Given the description of an element on the screen output the (x, y) to click on. 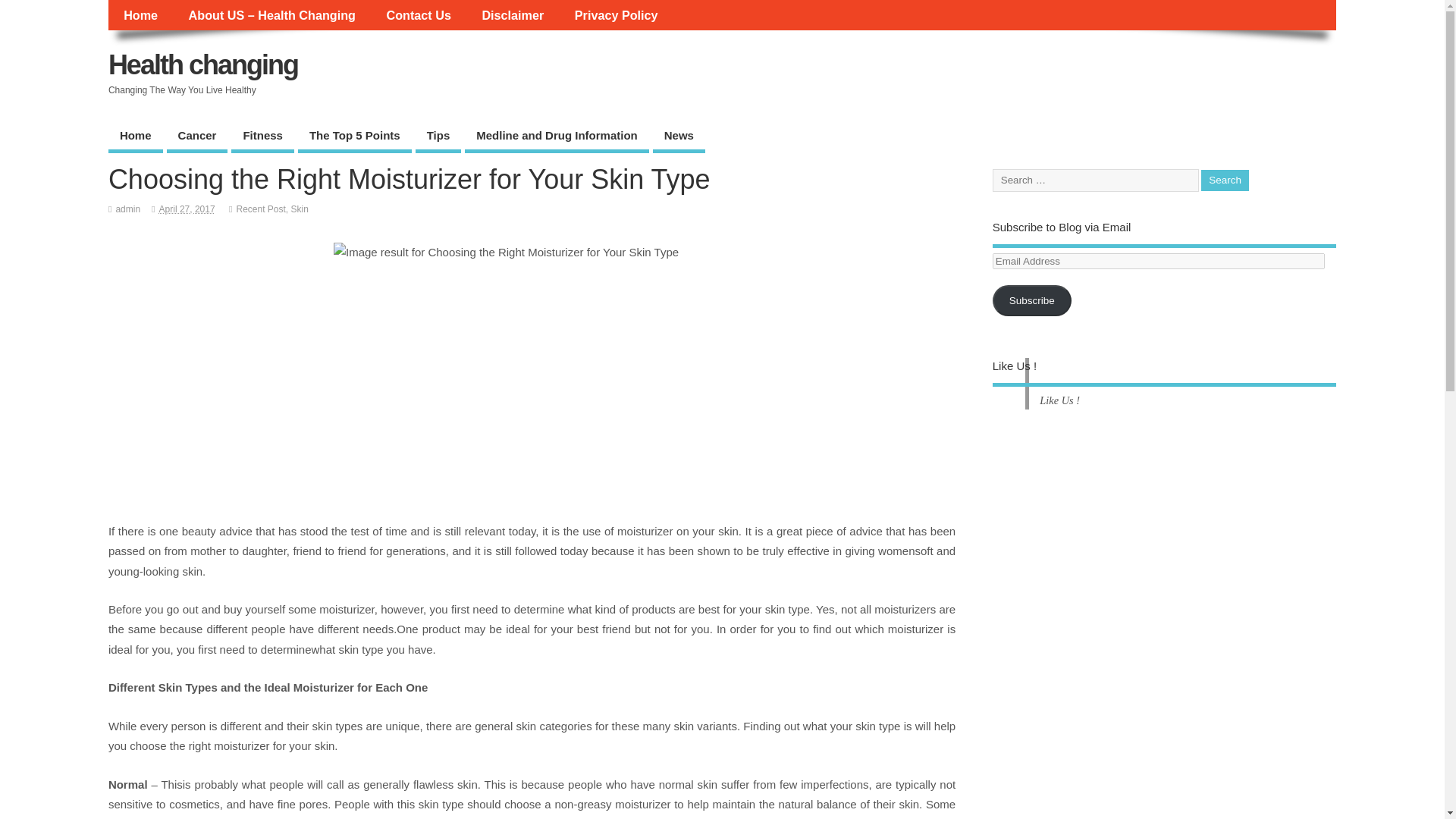
Disclaimer (512, 15)
admin (127, 208)
Cancer (197, 136)
Medline and Drug Information (556, 136)
Privacy Policy (615, 15)
Search (1225, 180)
Recent Post (260, 208)
Home (135, 136)
Posts by admin (127, 208)
Skin (299, 208)
Fitness (262, 136)
The Top 5 Points (355, 136)
News (678, 136)
Search for: (1095, 179)
Health changing (202, 64)
